Given the description of an element on the screen output the (x, y) to click on. 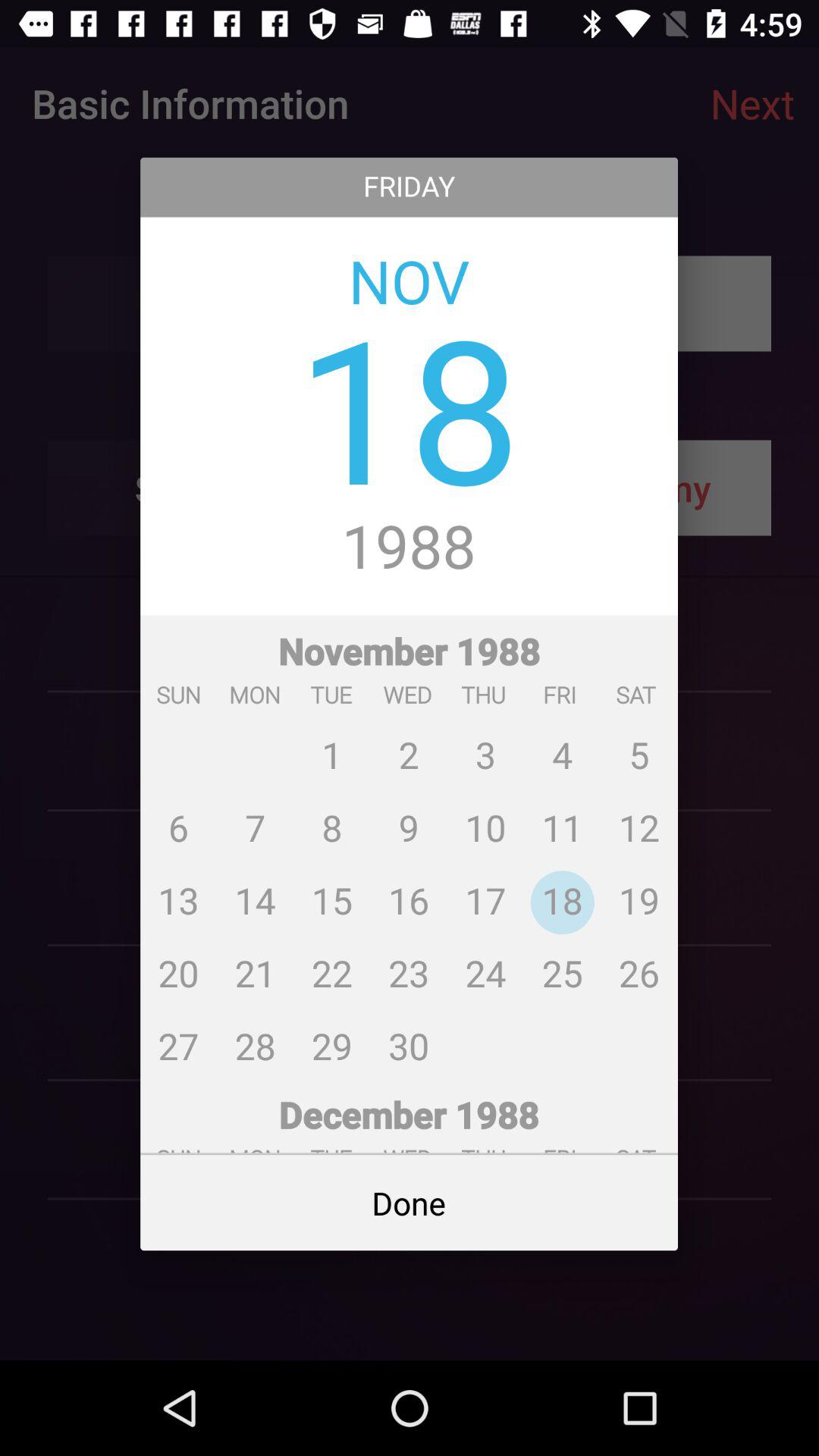
tap the 1988 (408, 548)
